Given the description of an element on the screen output the (x, y) to click on. 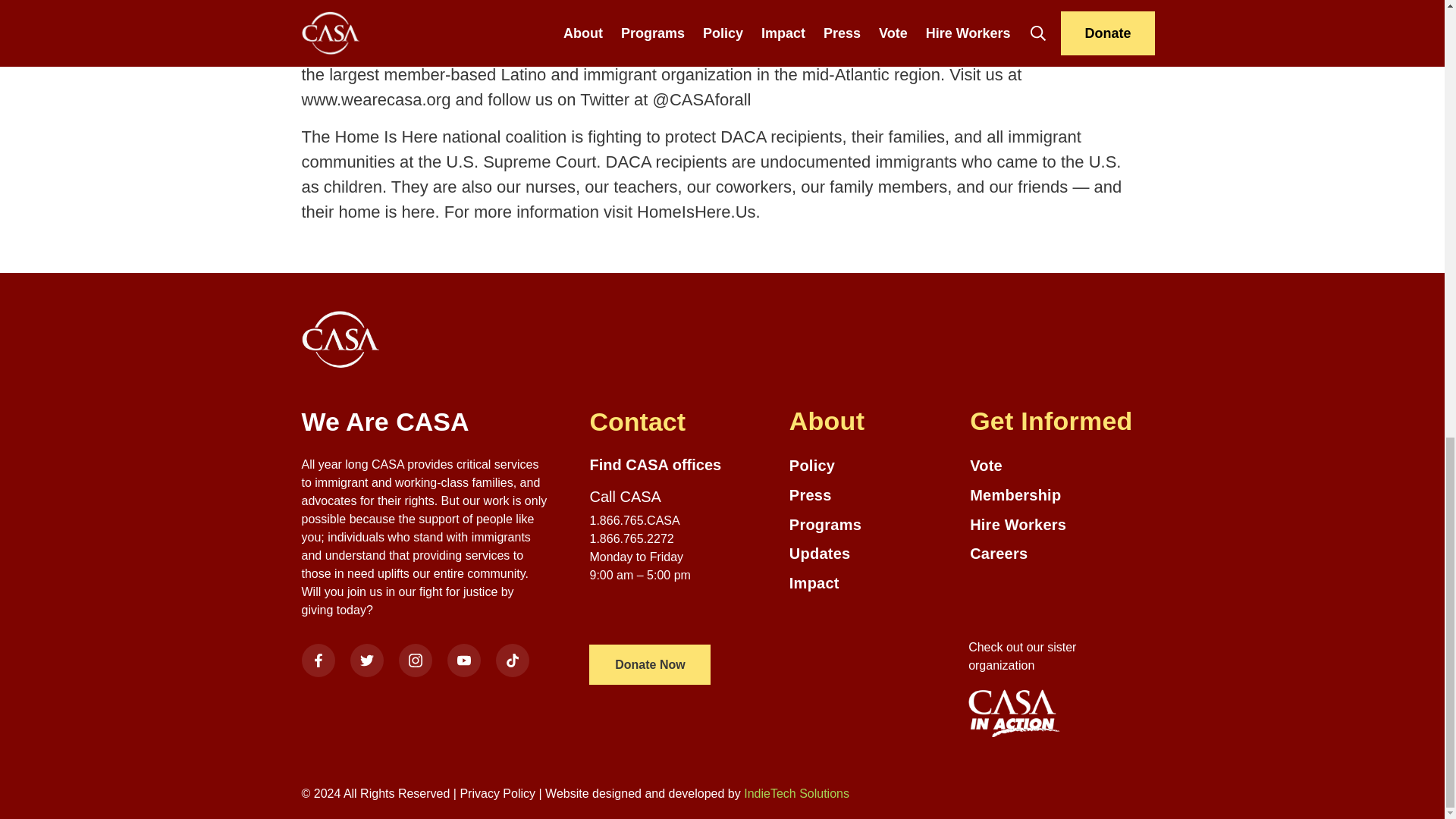
Find CASA offices (654, 464)
Programs (872, 525)
Impact (872, 583)
Contact (673, 421)
Updates (872, 553)
We Are CASA (424, 421)
About (872, 420)
Press (872, 495)
Policy (872, 465)
